Given the description of an element on the screen output the (x, y) to click on. 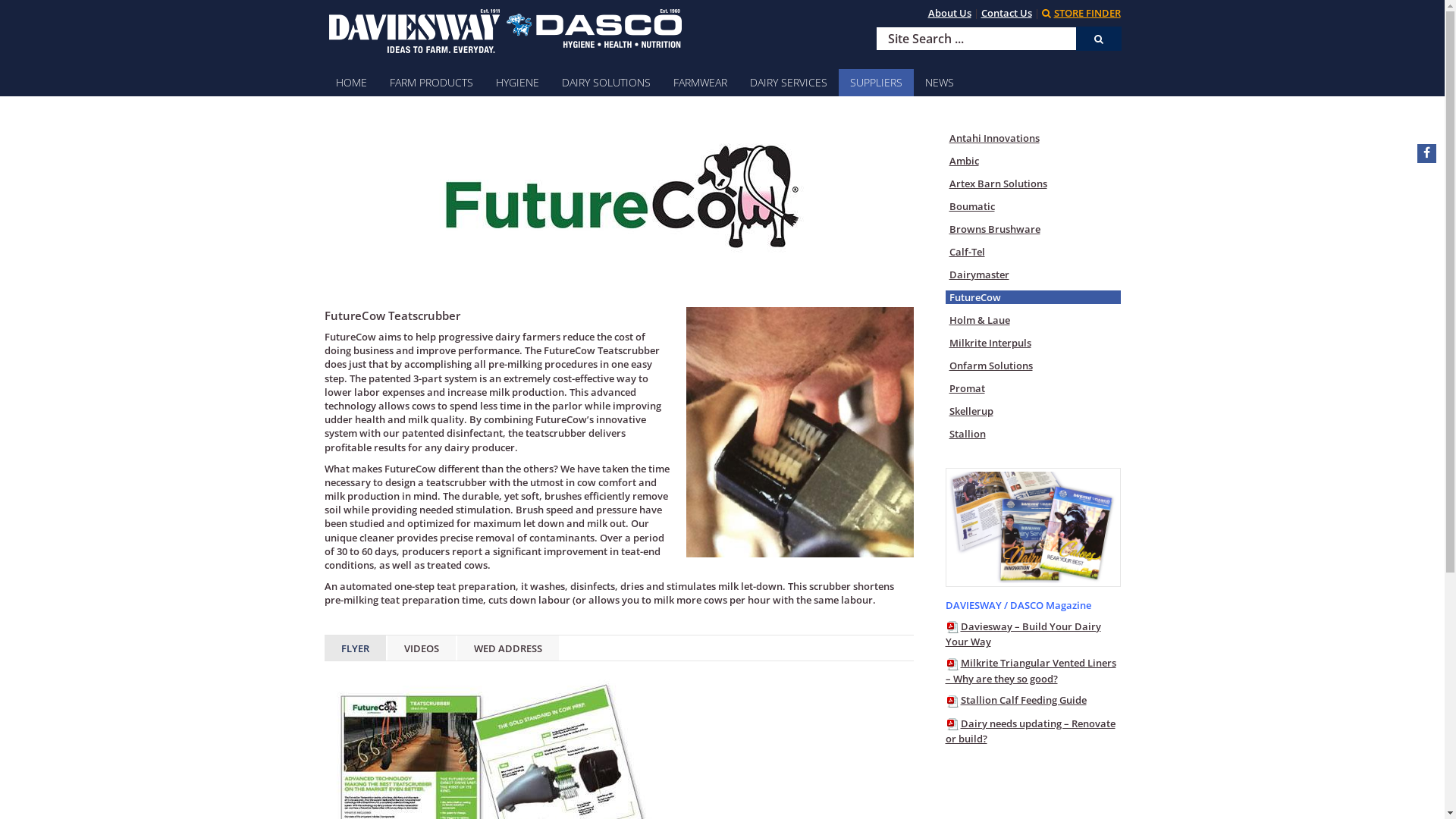
FARMWEAR Element type: text (699, 82)
HYGIENE Element type: text (516, 82)
FLYER Element type: text (354, 648)
Skellerup Element type: text (1032, 410)
Promat Element type: text (1032, 388)
Browns Brushware Element type: text (1032, 228)
WED ADDRESS Element type: text (507, 648)
VIDEOS Element type: text (420, 648)
Antahi Innovations Element type: text (1032, 137)
About Us Element type: text (949, 12)
SUPPLIERS Element type: text (875, 82)
Artex Barn Solutions Element type: text (1032, 183)
FARM PRODUCTS Element type: text (430, 82)
Ambic Element type: text (1032, 160)
Holm & Laue Element type: text (1032, 319)
Onfarm Solutions Element type: text (1032, 365)
Contact Us Element type: text (1006, 12)
Boumatic Element type: text (1032, 206)
Stallion Element type: text (1032, 433)
Dairymaster Element type: text (1032, 274)
DAIRY SOLUTIONS Element type: text (606, 82)
DAIRY SERVICES Element type: text (788, 82)
HOME Element type: text (351, 82)
STORE FINDER Element type: text (1080, 12)
NEWS Element type: text (938, 82)
Milkrite Interpuls Element type: text (1032, 342)
FutureCow Element type: text (1032, 297)
Stallion Calf Feeding Guide Element type: text (1014, 699)
Calf-Tel Element type: text (1032, 251)
